Given the description of an element on the screen output the (x, y) to click on. 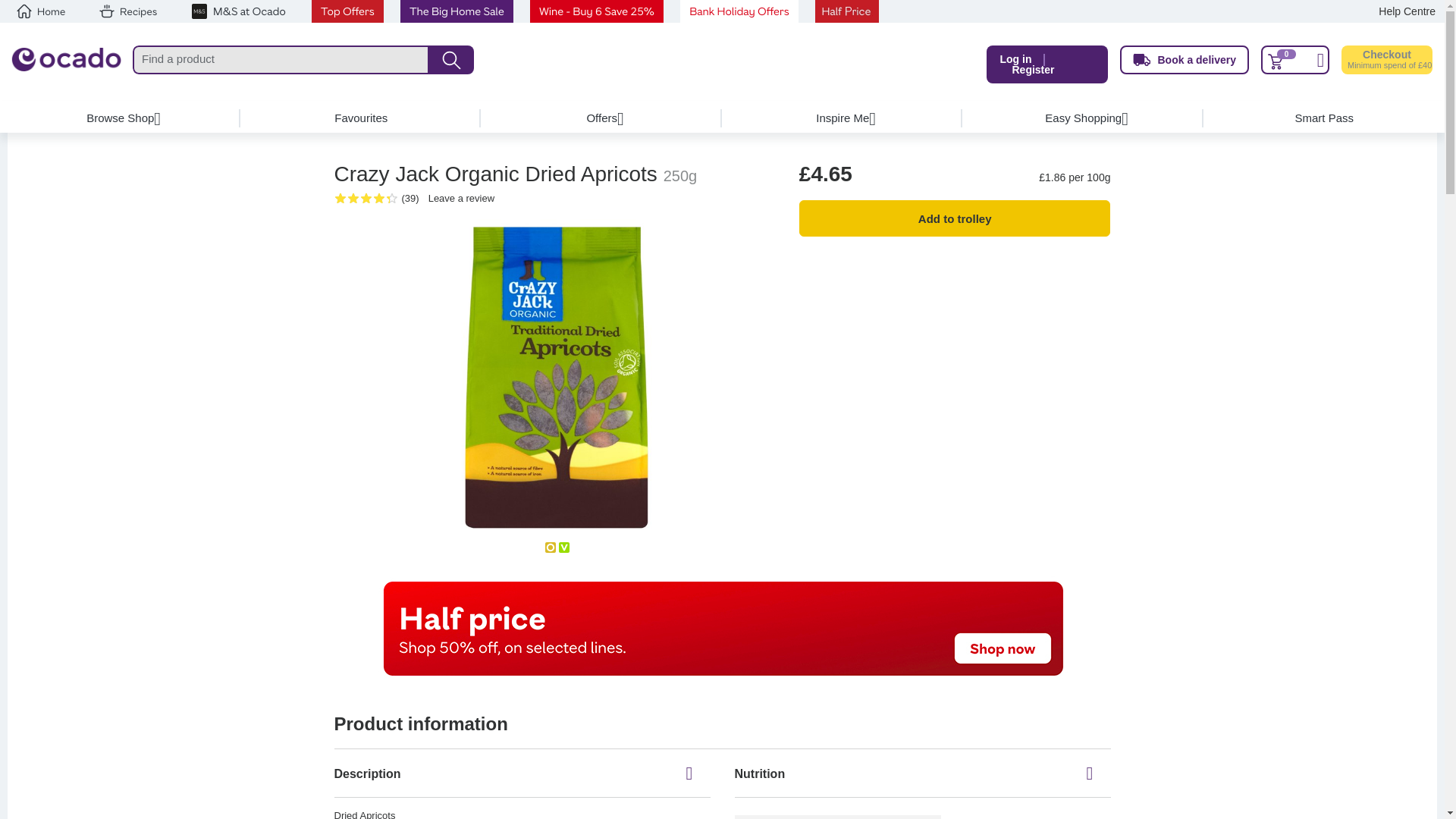
Find a product (280, 59)
Suitable for vegetarians (563, 547)
Nutrition (921, 773)
Description (521, 773)
Add to trolley (954, 217)
Big Home Sale (456, 11)
0 (1294, 59)
Browse Shop (120, 118)
Log in (1014, 59)
Bank Holiday Offers (738, 11)
